Given the description of an element on the screen output the (x, y) to click on. 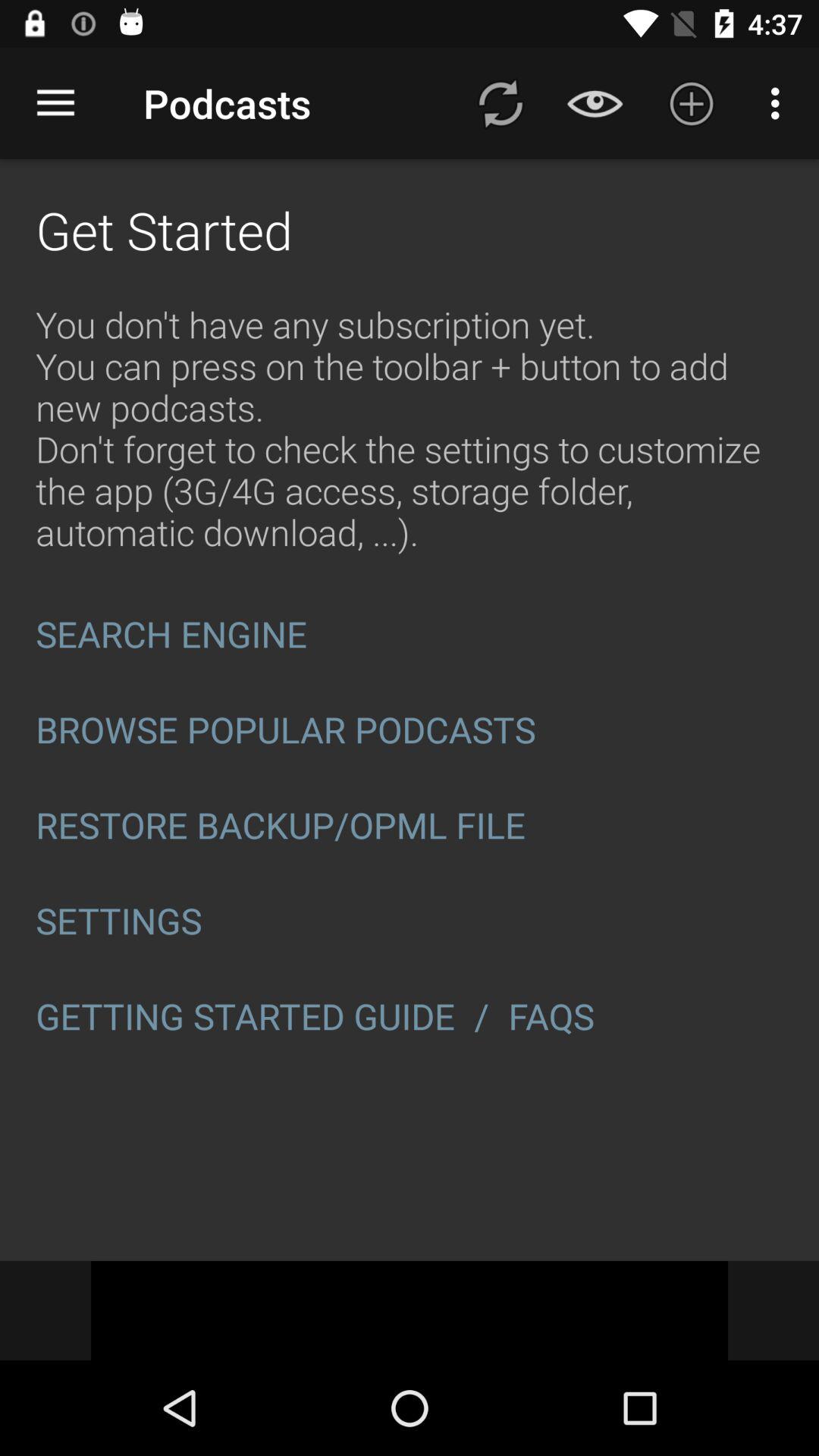
click item below browse popular podcasts (409, 825)
